Given the description of an element on the screen output the (x, y) to click on. 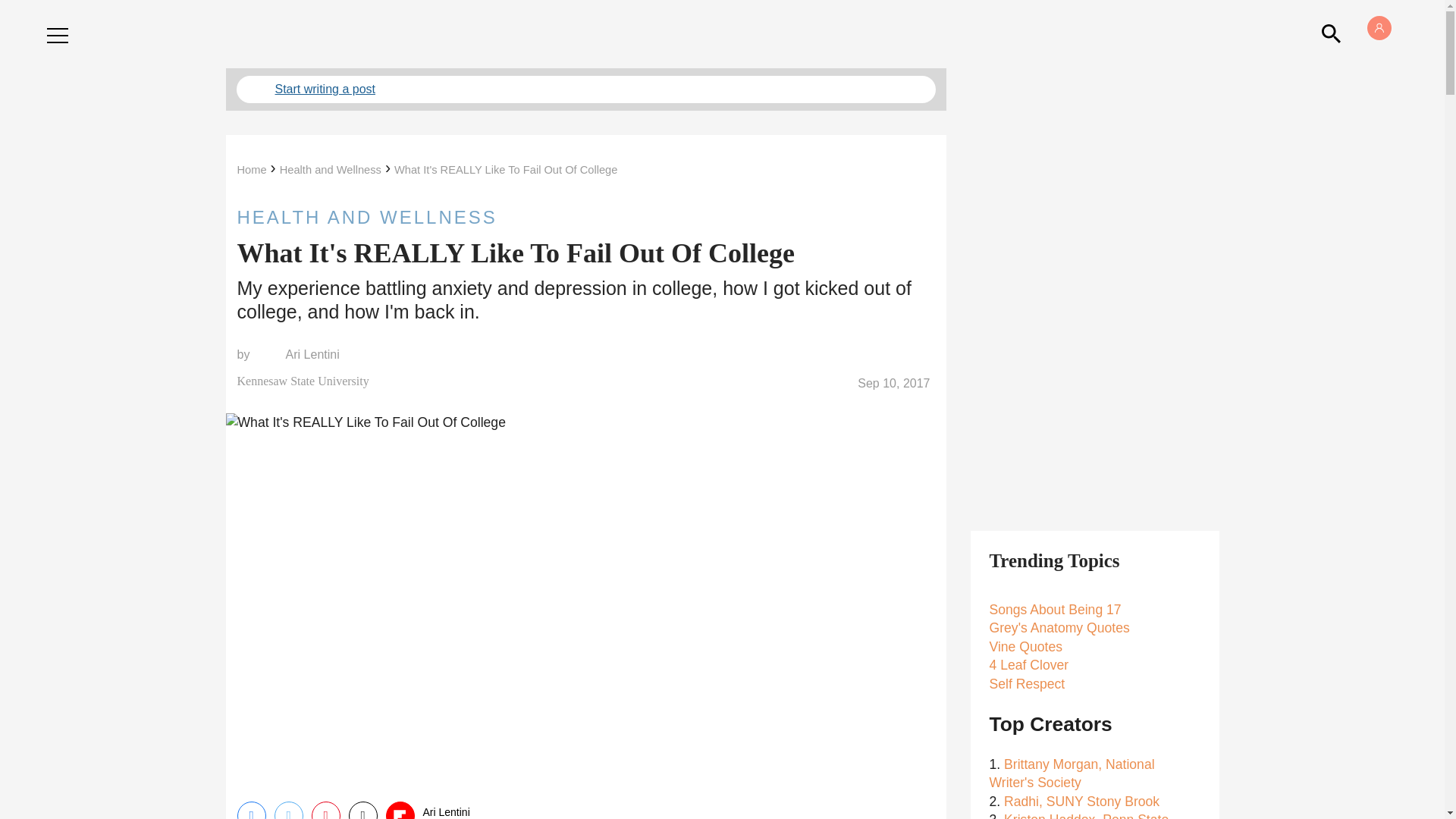
Health and Wellness (330, 169)
Start writing a post (585, 89)
Ari Lentini (312, 354)
HEALTH AND WELLNESS (584, 217)
Home (250, 169)
What It's REALLY Like To Fail Out Of College (505, 169)
